Given the description of an element on the screen output the (x, y) to click on. 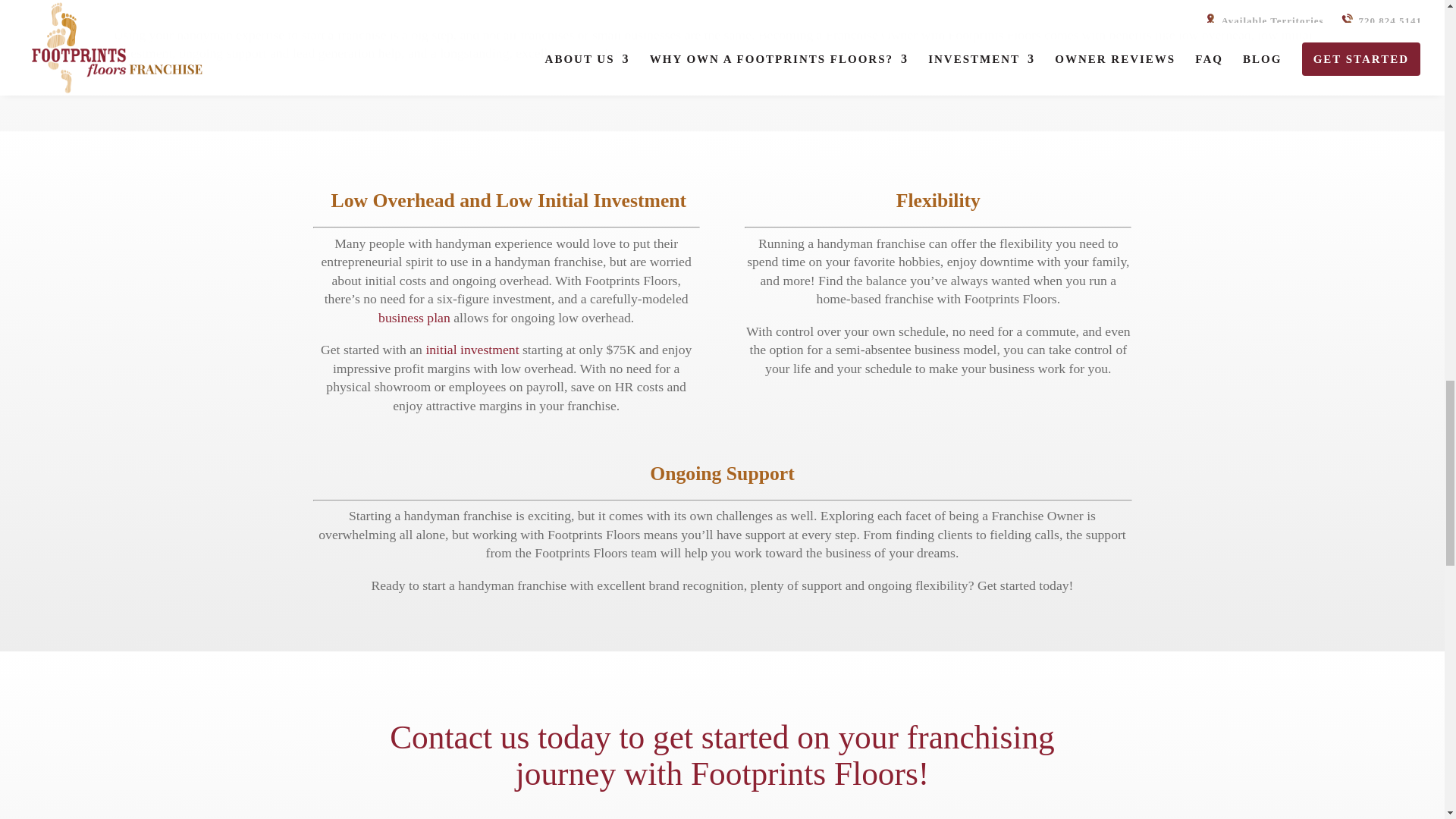
Footprints Floors Business Model (413, 317)
Investment Franchise (471, 349)
business plan (413, 317)
initial investment (471, 349)
